Given the description of an element on the screen output the (x, y) to click on. 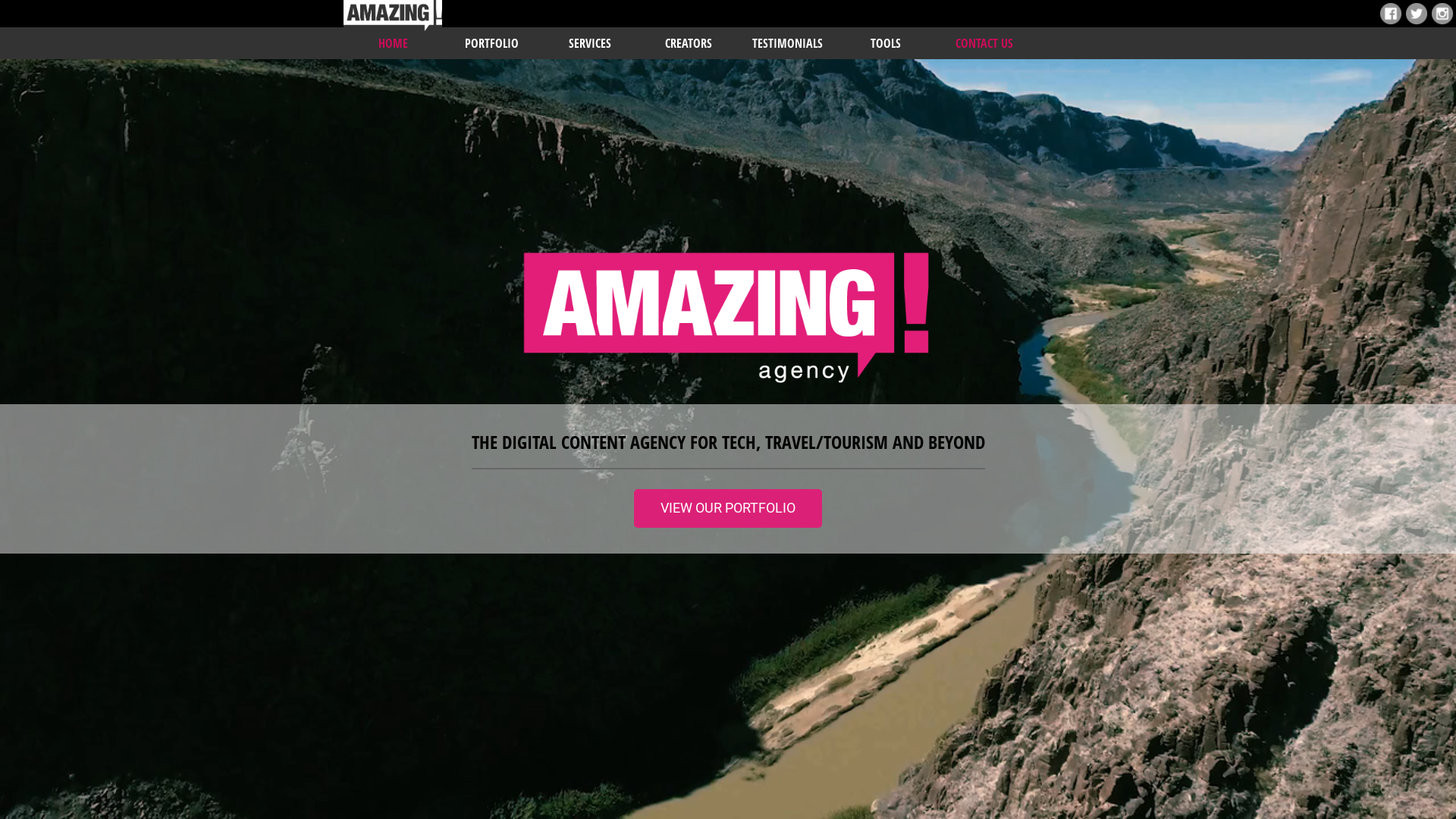
SERVICES Element type: text (589, 43)
TESTIMONIALS Element type: text (786, 43)
PORTFOLIO Element type: text (491, 43)
CONTACT US Element type: text (984, 43)
TOOLS Element type: text (885, 43)
CREATORS Element type: text (688, 43)
VIEW OUR PORTFOLIO Element type: text (727, 508)
HOME Element type: text (392, 29)
